Given the description of an element on the screen output the (x, y) to click on. 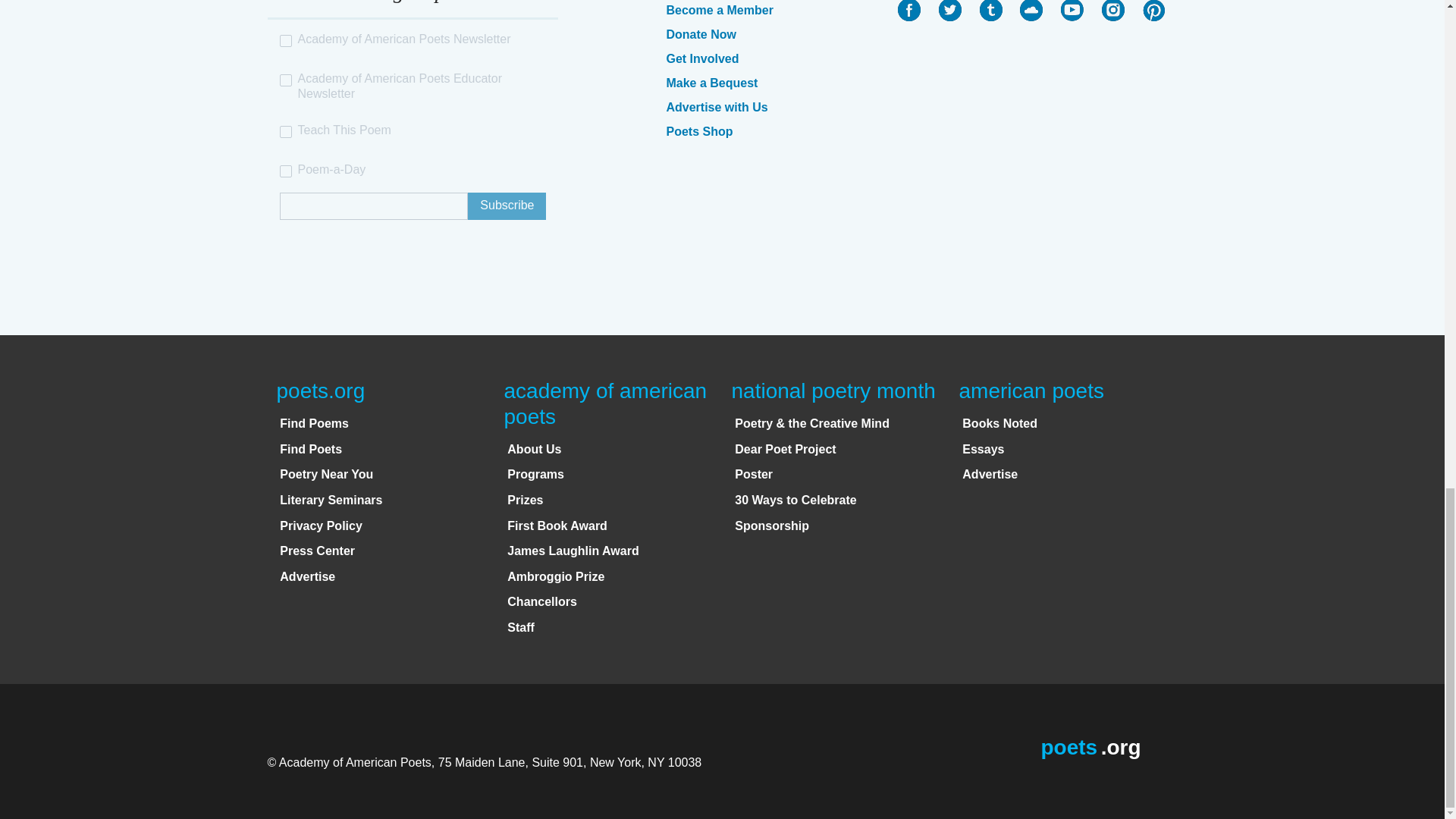
Advertise (306, 576)
Press Center (317, 550)
Poetry Near You (325, 473)
Literary Seminars (330, 499)
Privacy Policy (320, 525)
Subscribe (506, 206)
